Given the description of an element on the screen output the (x, y) to click on. 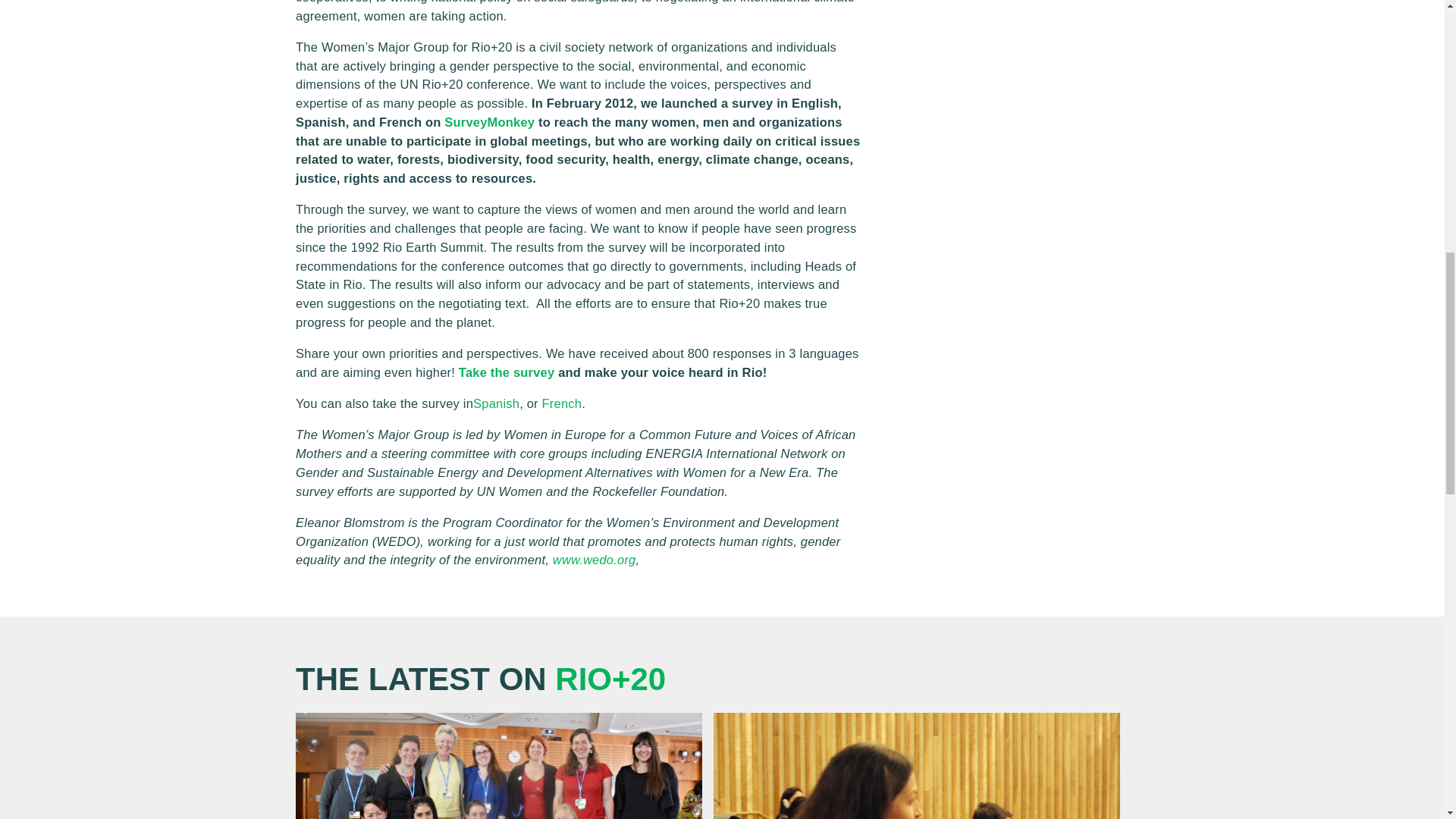
SurveyMonkey (489, 121)
